Given the description of an element on the screen output the (x, y) to click on. 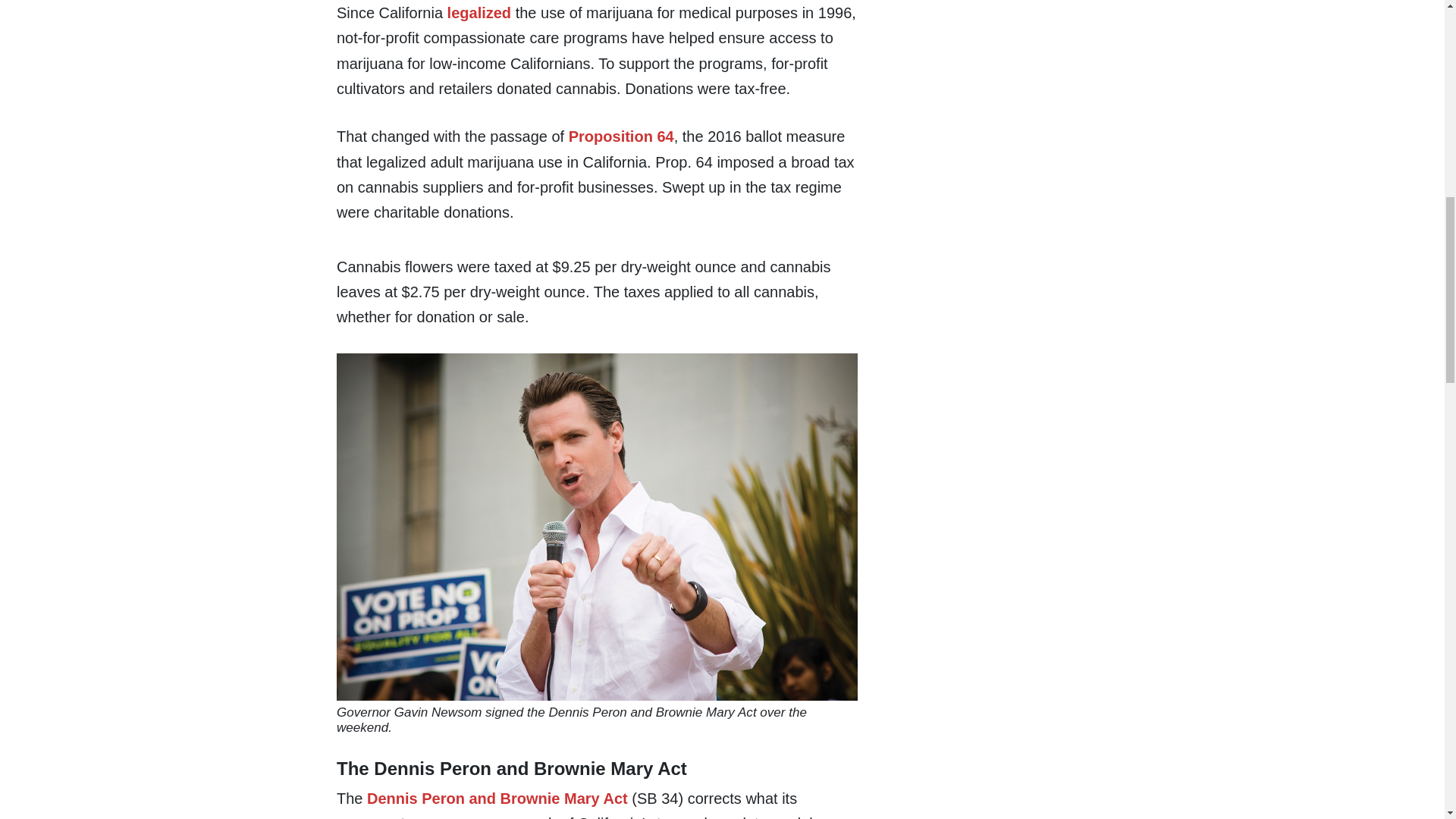
legalized (476, 12)
Proposition 64 (618, 135)
Dennis Peron and Brownie Mary Act (494, 798)
